Given the description of an element on the screen output the (x, y) to click on. 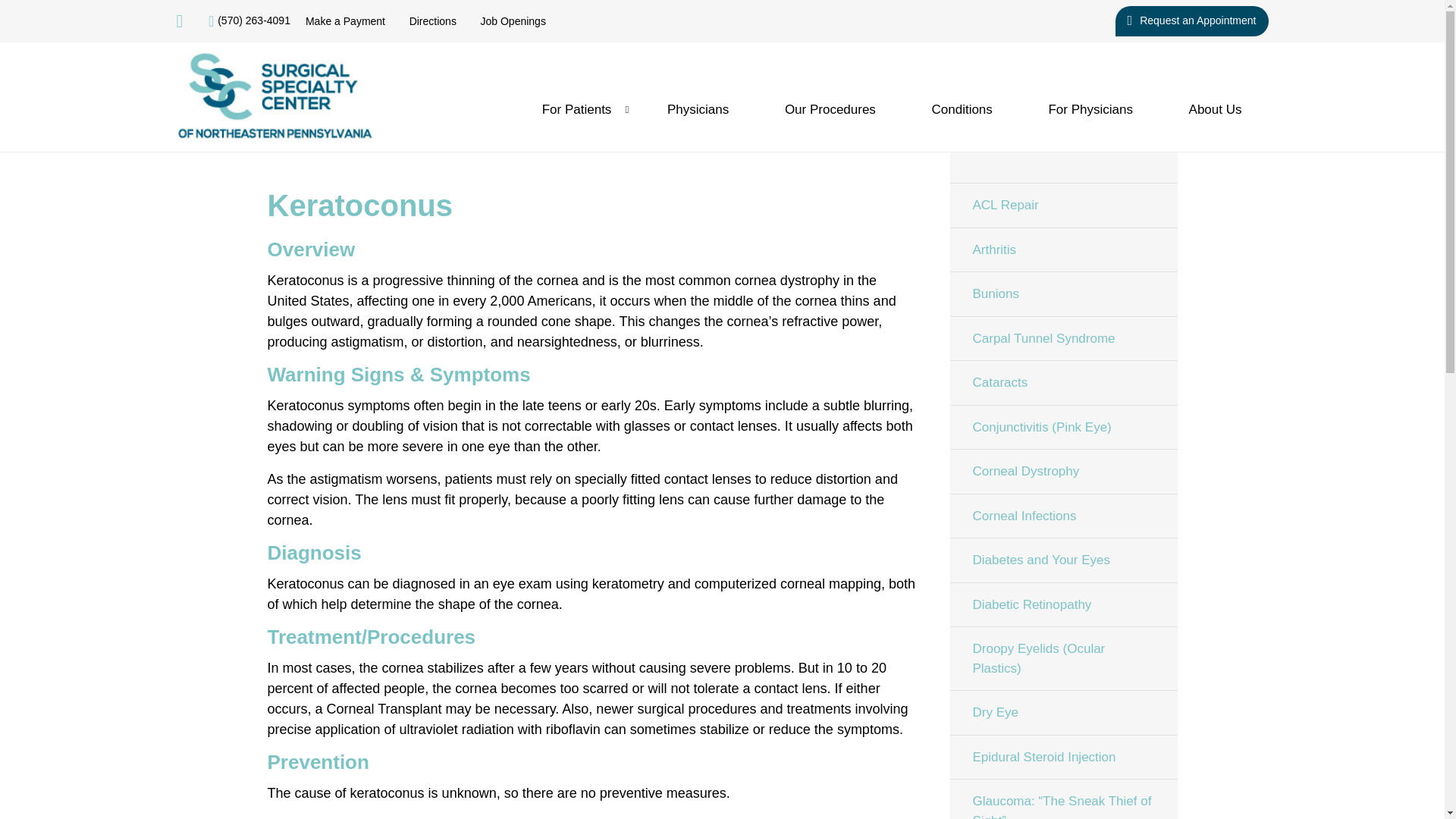
Our Procedures (830, 109)
Physicians (697, 109)
Bunions (1062, 293)
Make a Payment (345, 21)
ACL Repair (1062, 204)
Surgical Specialty Center of Northeastern Pennsylvania (275, 96)
Request an Appointment (1191, 20)
Job Openings (513, 21)
Arthritis (1062, 249)
For Patients (576, 109)
Carpal Tunnel Syndrome (1062, 337)
Cataracts (1062, 382)
About Us (1215, 109)
Conditions (961, 109)
Directions (433, 21)
